Given the description of an element on the screen output the (x, y) to click on. 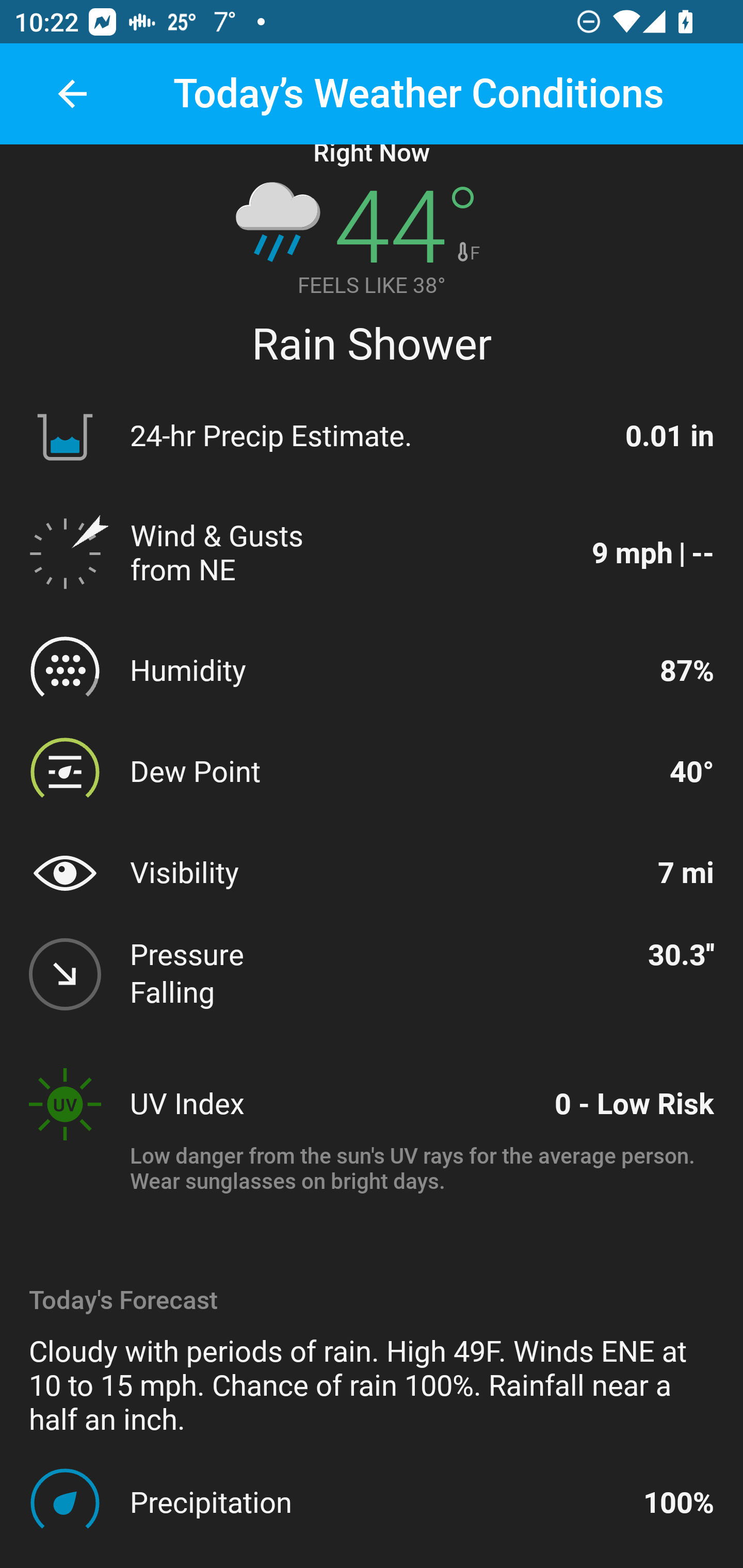
back (71, 93)
Precipitation (377, 1502)
100% (678, 1502)
